Given the description of an element on the screen output the (x, y) to click on. 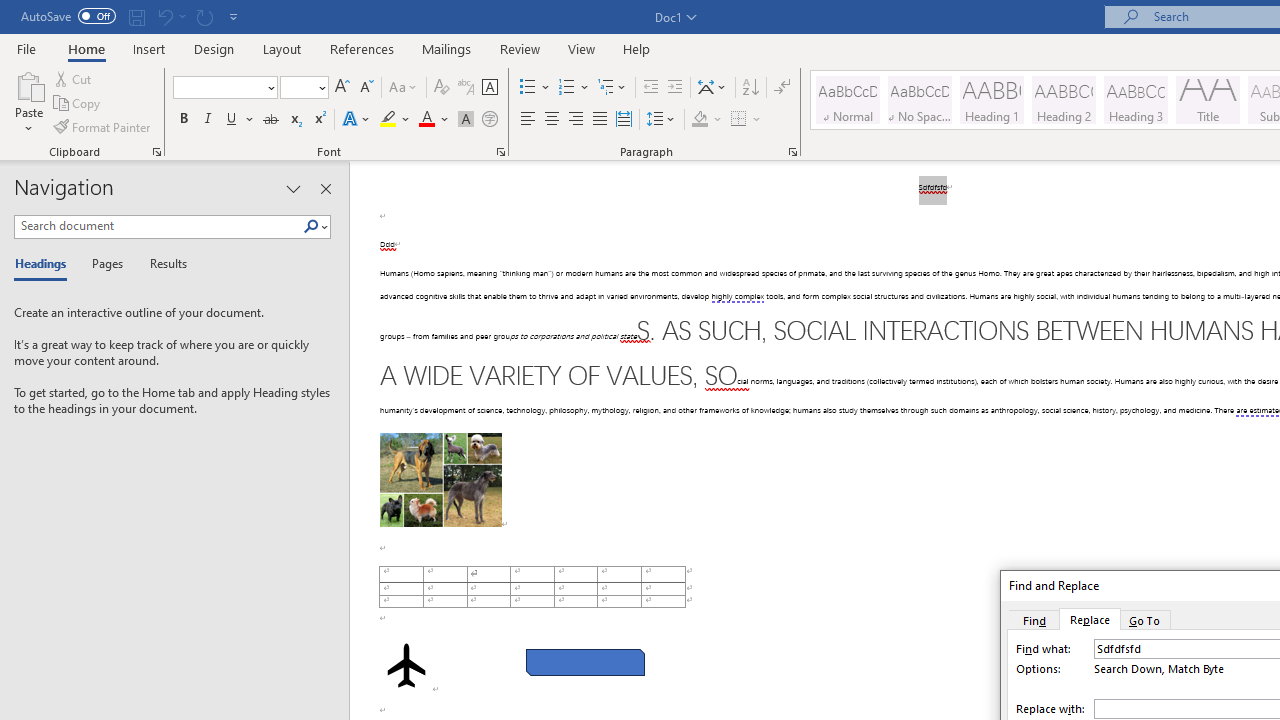
Multilevel List (613, 87)
Replace (1089, 619)
Line and Paragraph Spacing (661, 119)
